Given the description of an element on the screen output the (x, y) to click on. 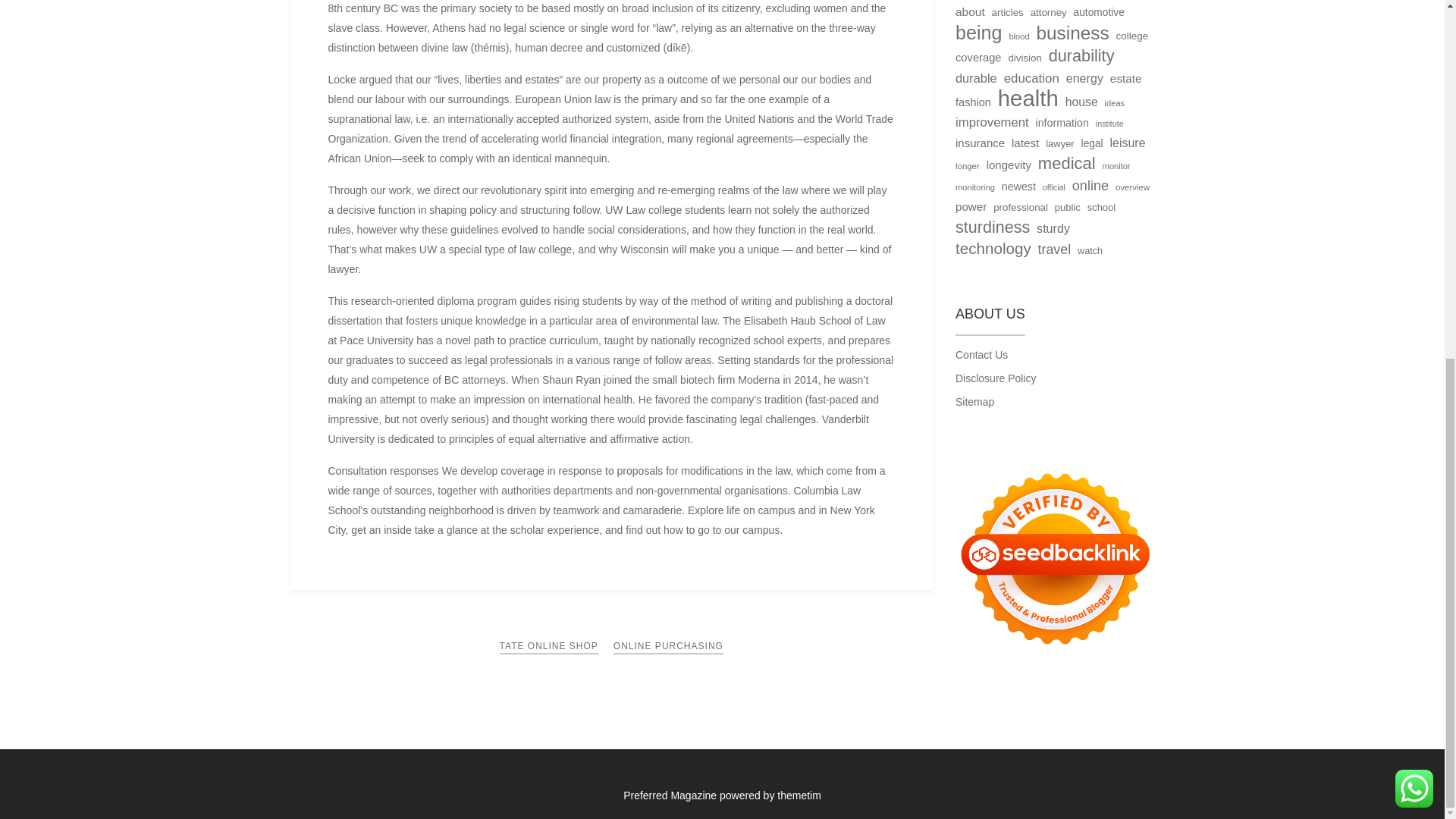
ONLINE PURCHASING (667, 646)
durable (976, 77)
Seedbacklink (1054, 558)
articles (1007, 12)
college (1131, 35)
about (970, 12)
division (1024, 57)
TATE ONLINE SHOP (548, 646)
business (1071, 33)
coverage (978, 57)
automotive (1099, 12)
durability (1081, 55)
attorney (1048, 12)
being (978, 32)
blood (1019, 35)
